Given the description of an element on the screen output the (x, y) to click on. 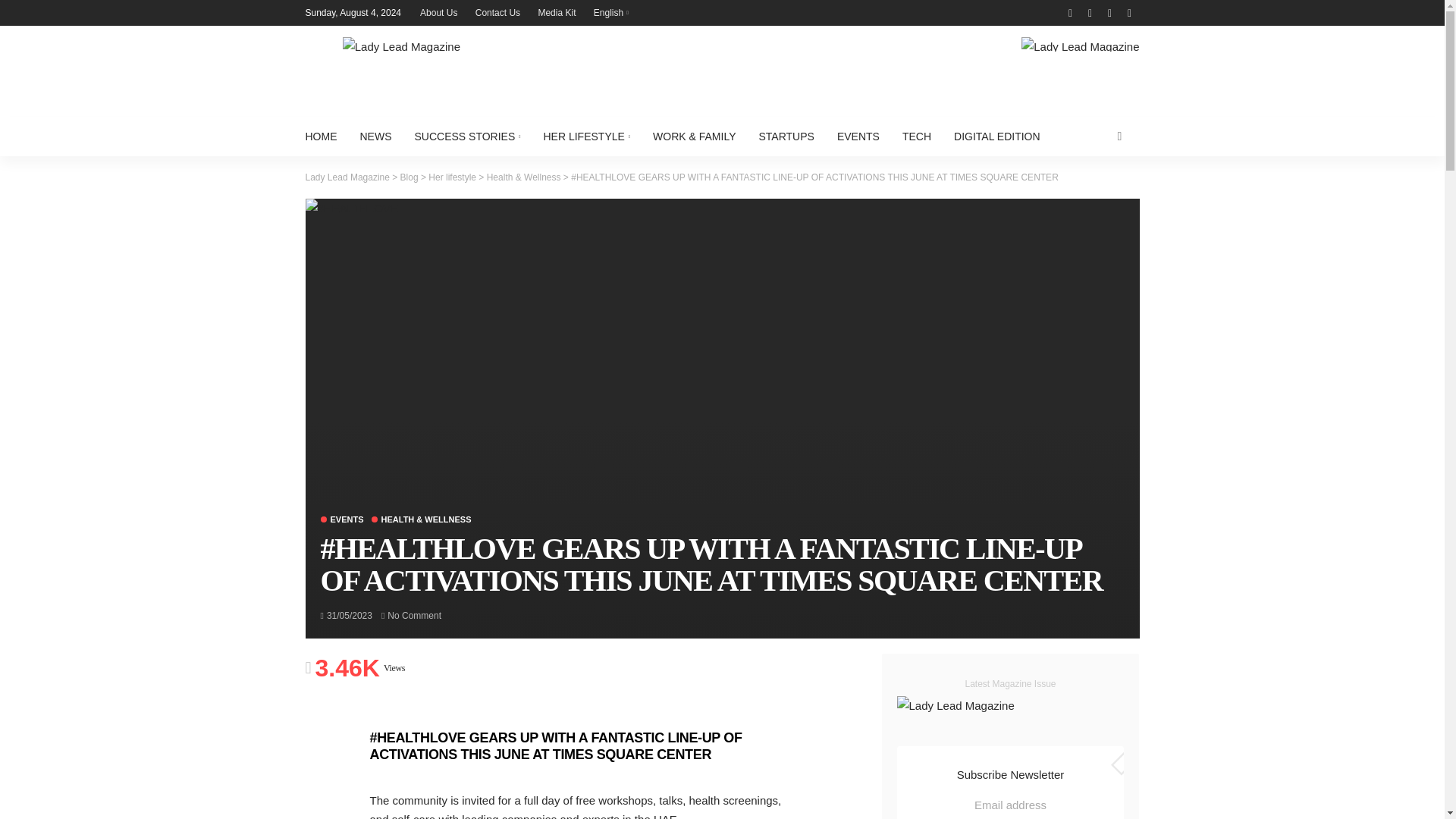
About Us (438, 12)
Contact Us (497, 12)
HOME (325, 136)
English (611, 12)
Media Kit (556, 12)
